Given the description of an element on the screen output the (x, y) to click on. 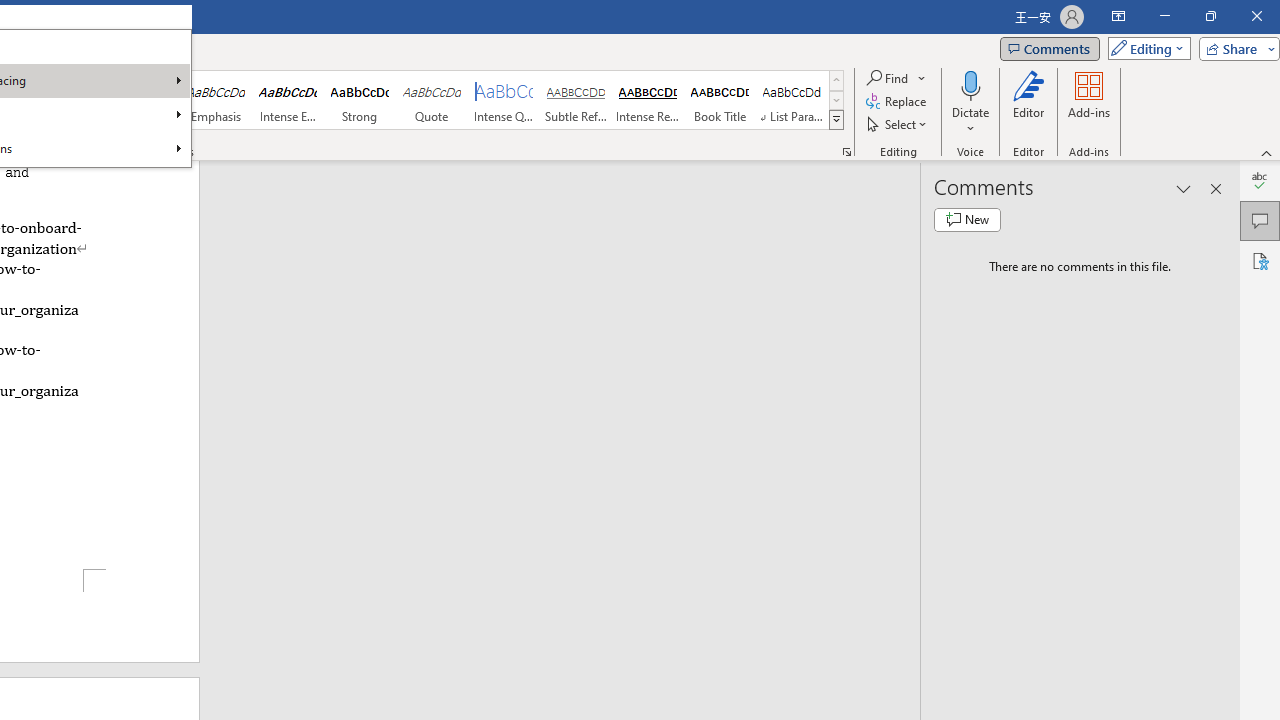
Row up (836, 79)
Book Title (719, 100)
Find (888, 78)
Intense Reference (647, 100)
Share (1235, 48)
Dictate (970, 102)
Dictate (970, 84)
Styles (836, 120)
Quote (431, 100)
Emphasis (216, 100)
Select (898, 124)
Ribbon Display Options (1118, 16)
Replace... (897, 101)
Comments (1049, 48)
